Given the description of an element on the screen output the (x, y) to click on. 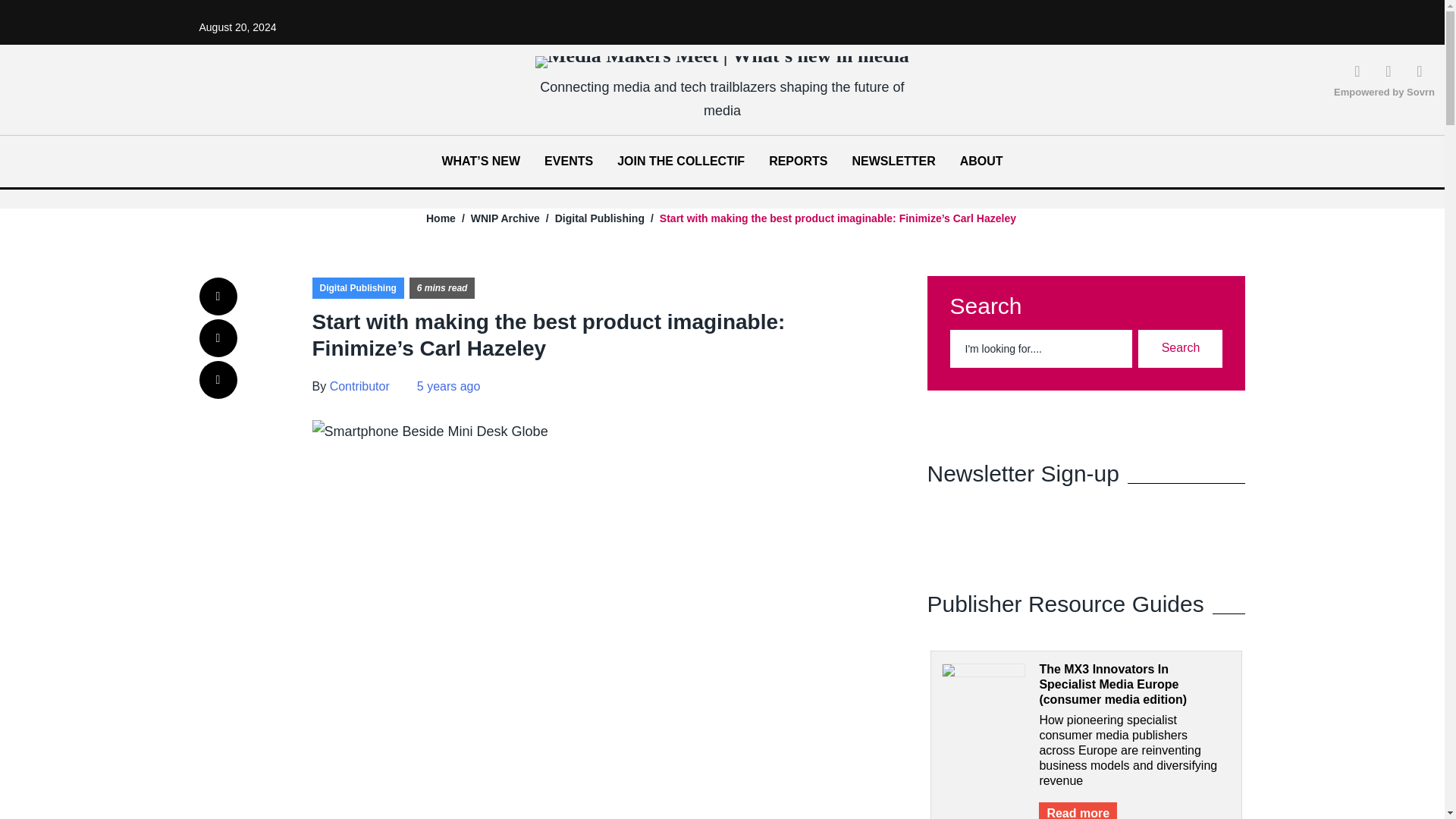
Digital Publishing (599, 218)
Share on Facebook (216, 296)
JOIN THE COLLECTIF (681, 160)
Share on Twitter (216, 338)
LinkedIn (1357, 69)
Instagram (1388, 69)
Search for: (1040, 347)
Share on LinkedIn (216, 379)
REPORTS (798, 160)
WNIP Archive (505, 218)
